Given the description of an element on the screen output the (x, y) to click on. 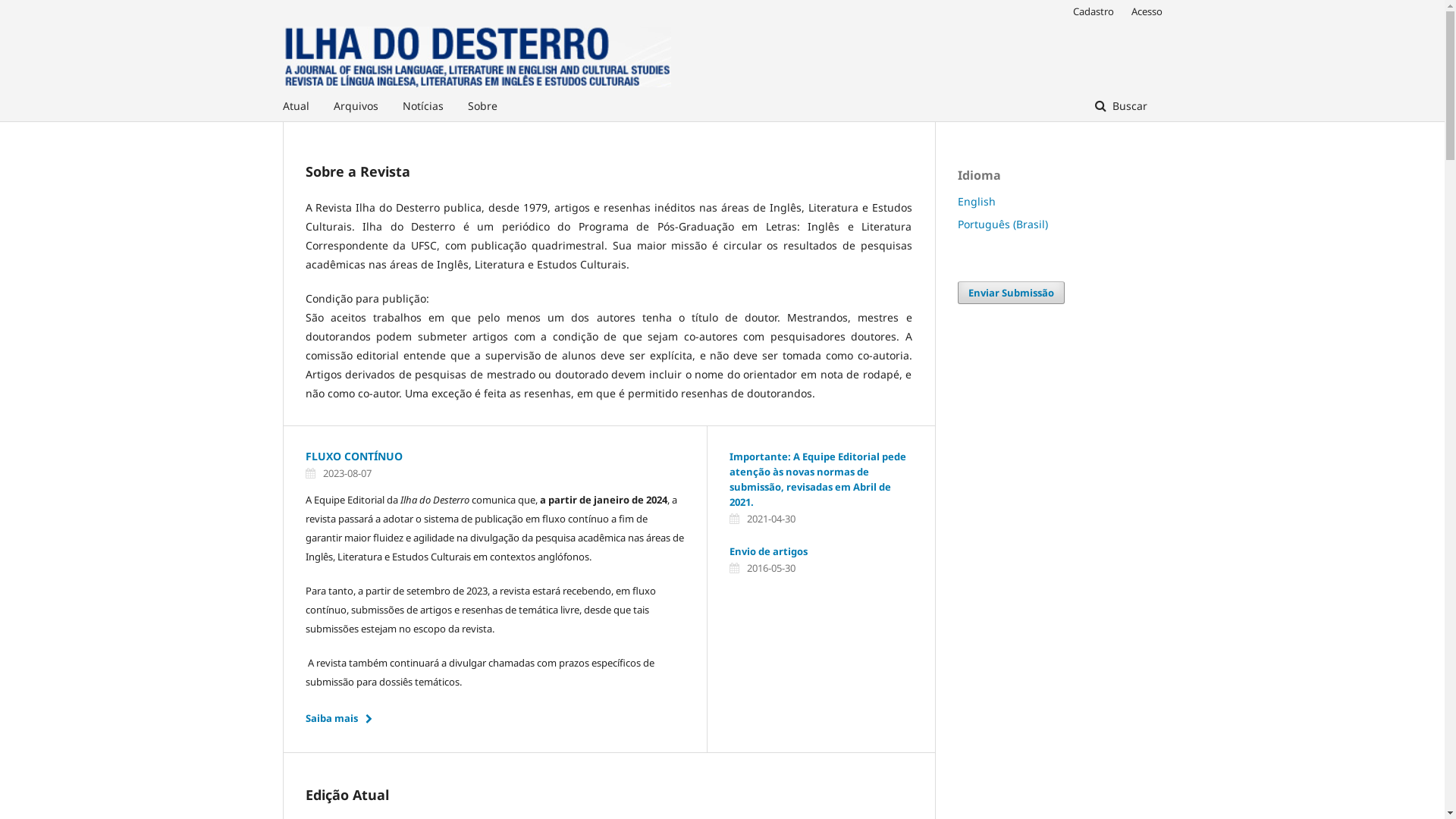
Acesso Element type: text (1142, 11)
Sobre Element type: text (481, 106)
Buscar Element type: text (1120, 106)
Cadastro Element type: text (1092, 11)
English Element type: text (975, 201)
Atual Element type: text (295, 106)
Arquivos Element type: text (355, 106)
Saiba mais Element type: text (341, 717)
Envio de artigos Element type: text (768, 551)
